Given the description of an element on the screen output the (x, y) to click on. 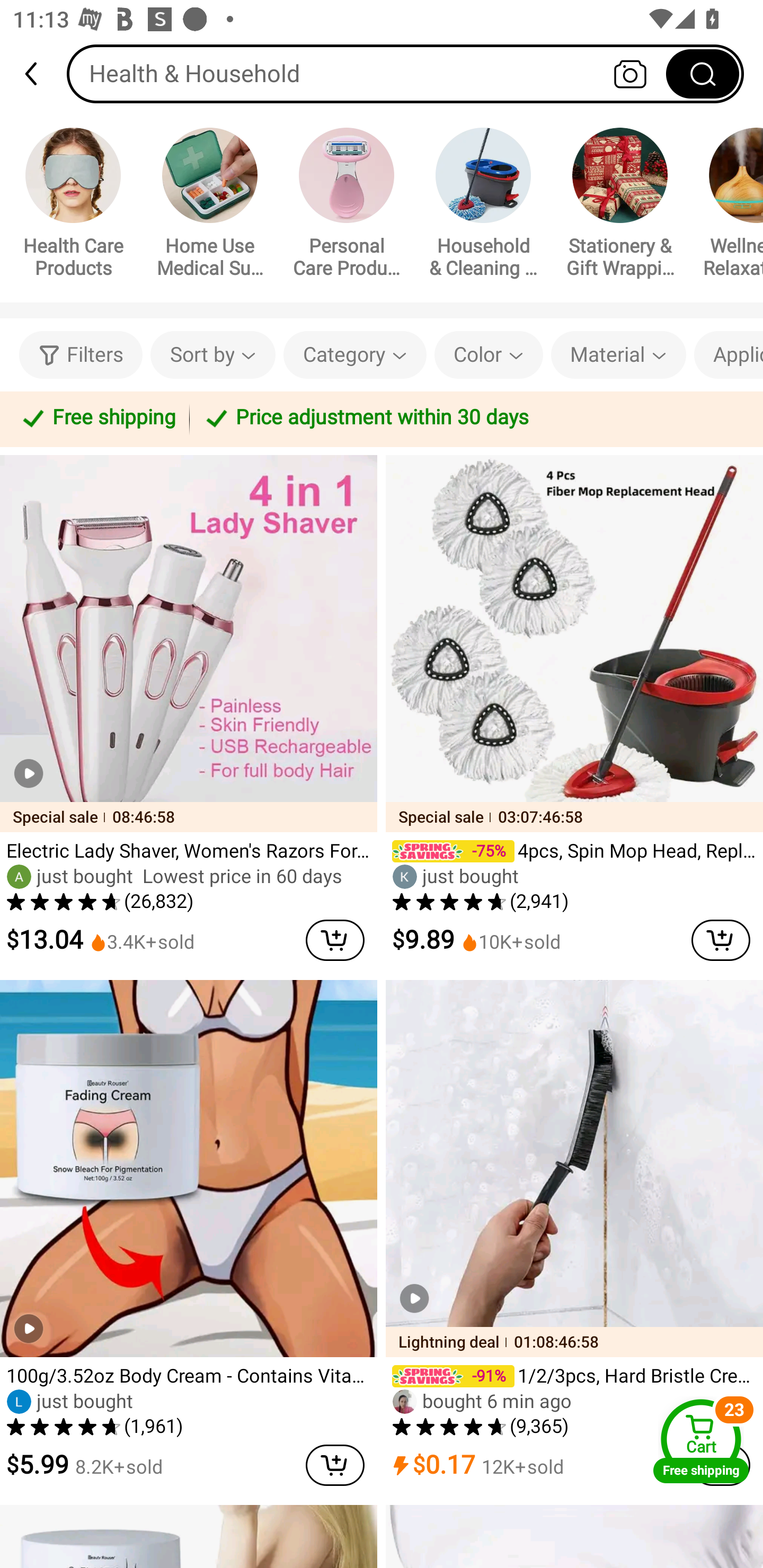
back (39, 73)
Health & Household (405, 73)
Health Care Products (73, 205)
Home Use Medical Supplies & Equipment (209, 205)
Personal Care Products (346, 205)
Household & Cleaning Supplies (483, 205)
Stationery & Gift Wrapping Supplies (619, 205)
Filters (80, 354)
Sort by (212, 354)
Category (354, 354)
Color (488, 354)
Material (617, 354)
Free shipping (97, 418)
Price adjustment within 30 days (472, 418)
cart delete (334, 939)
cart delete (720, 939)
Cart Free shipping Cart (701, 1440)
cart delete (334, 1465)
